Given the description of an element on the screen output the (x, y) to click on. 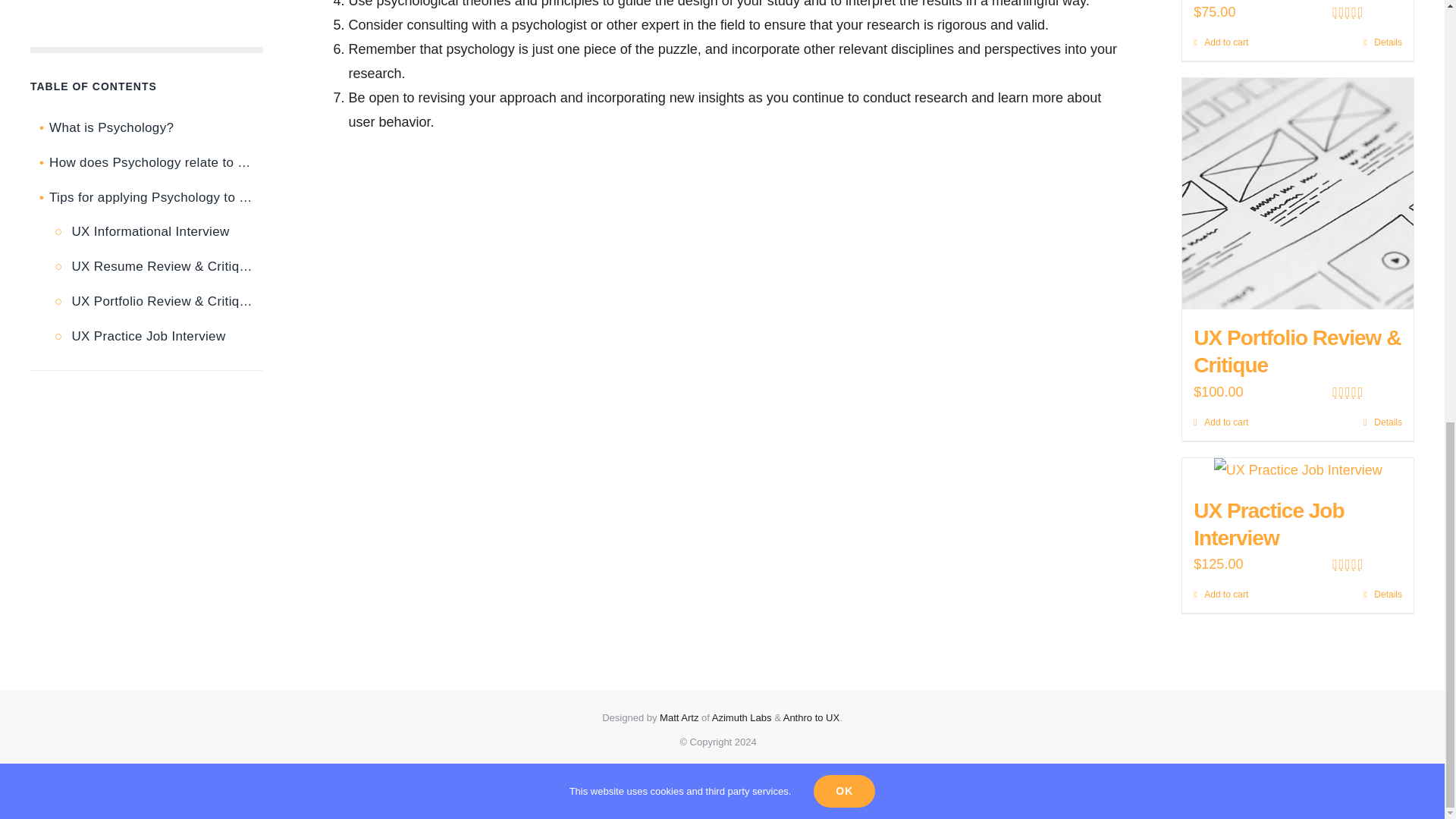
UX Practice Job Interview 1 (1297, 469)
UX Portfolio Review Critique (1297, 193)
